Given the description of an element on the screen output the (x, y) to click on. 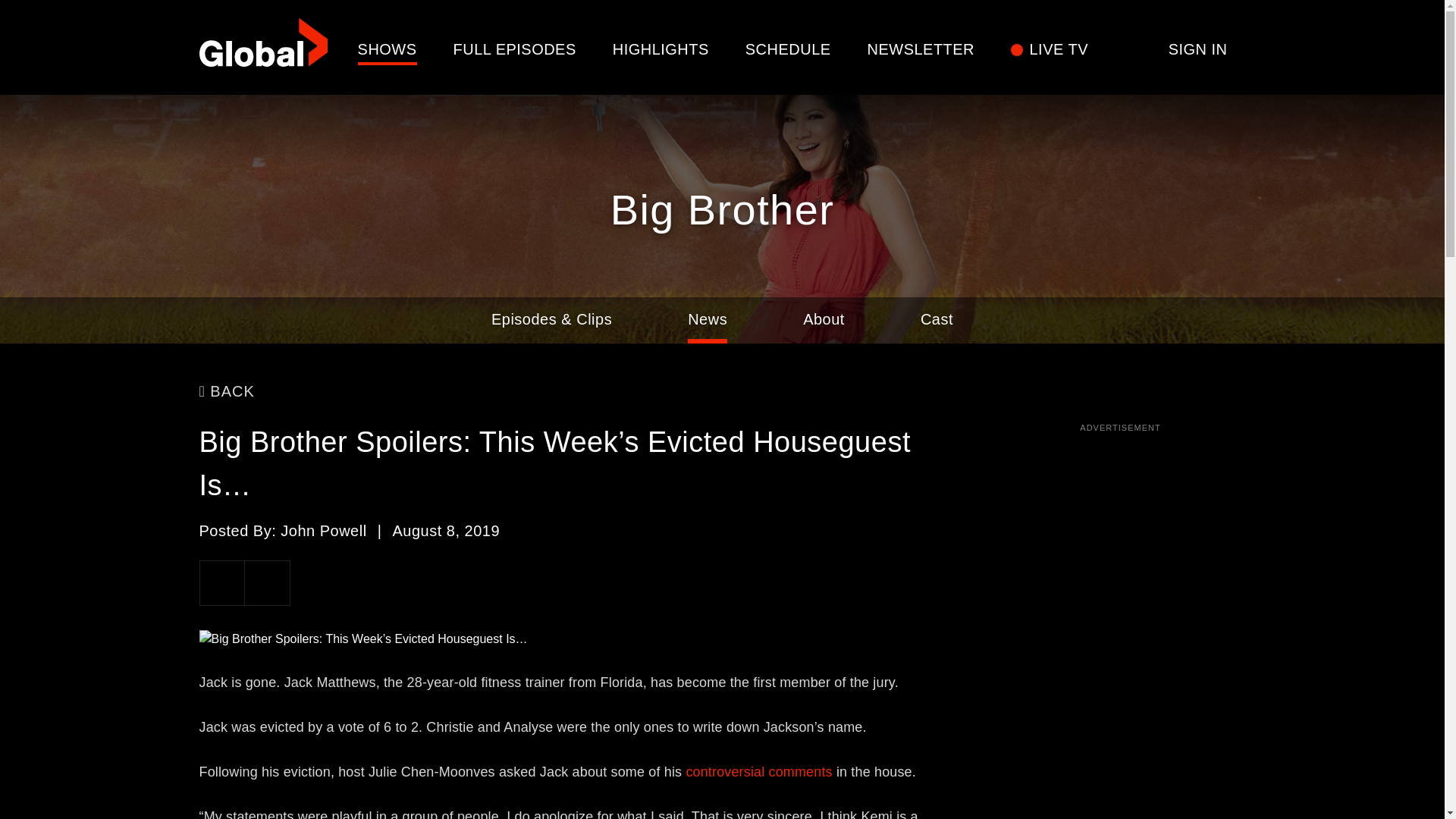
SCHEDULE (788, 48)
SHOWS (387, 48)
News (706, 319)
controversial comments (758, 771)
LIVE TV (1058, 48)
SHOWS (387, 48)
SIGN IN (1198, 48)
About (823, 319)
BACK (225, 391)
Sign In (1198, 48)
